Given the description of an element on the screen output the (x, y) to click on. 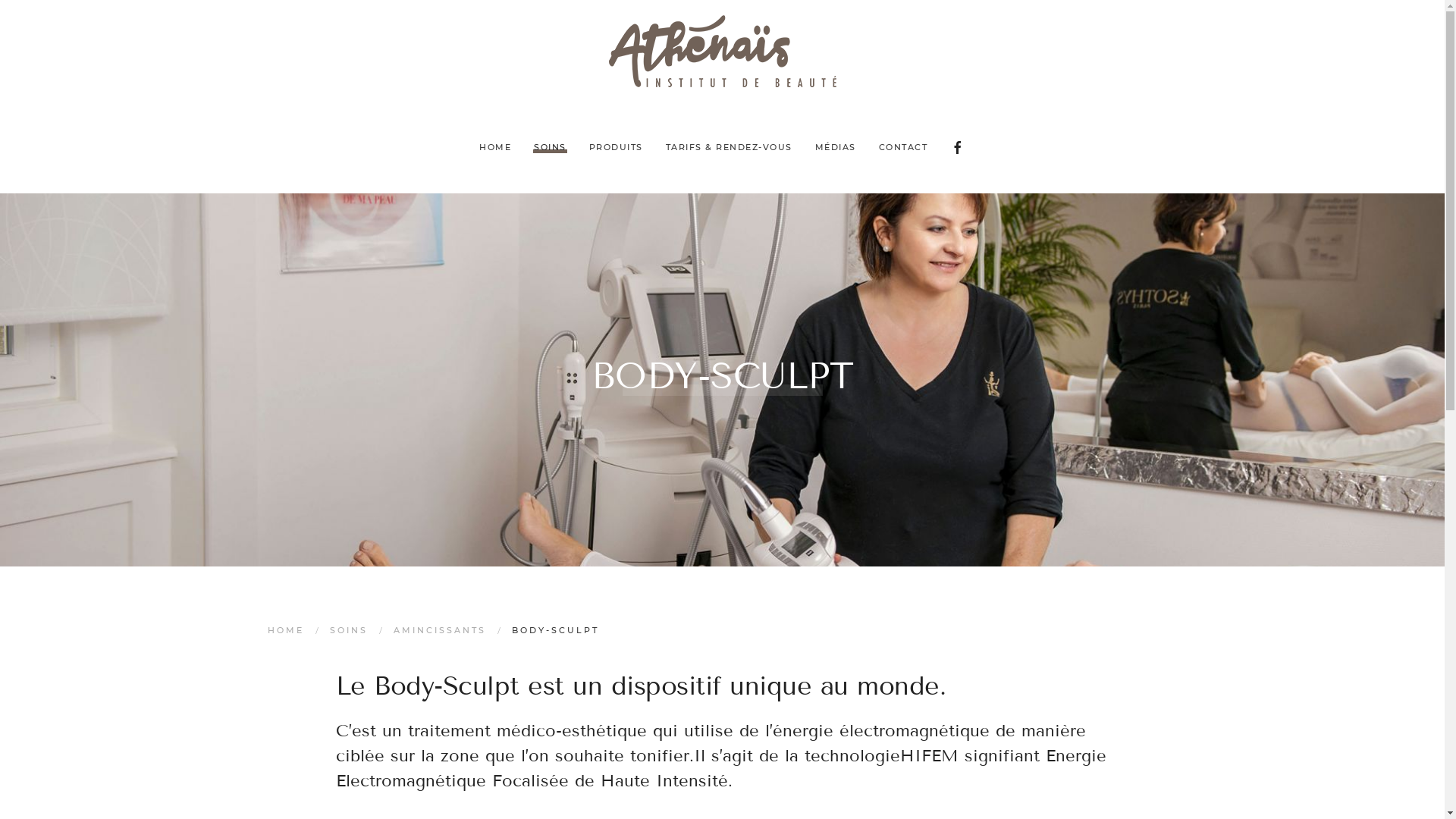
TARIFS & RENDEZ-VOUS Element type: text (728, 147)
HOME Element type: text (494, 147)
PRODUITS Element type: text (615, 147)
SOINS Element type: text (549, 147)
CONTACT Element type: text (903, 147)
HOME Element type: text (284, 629)
